Given the description of an element on the screen output the (x, y) to click on. 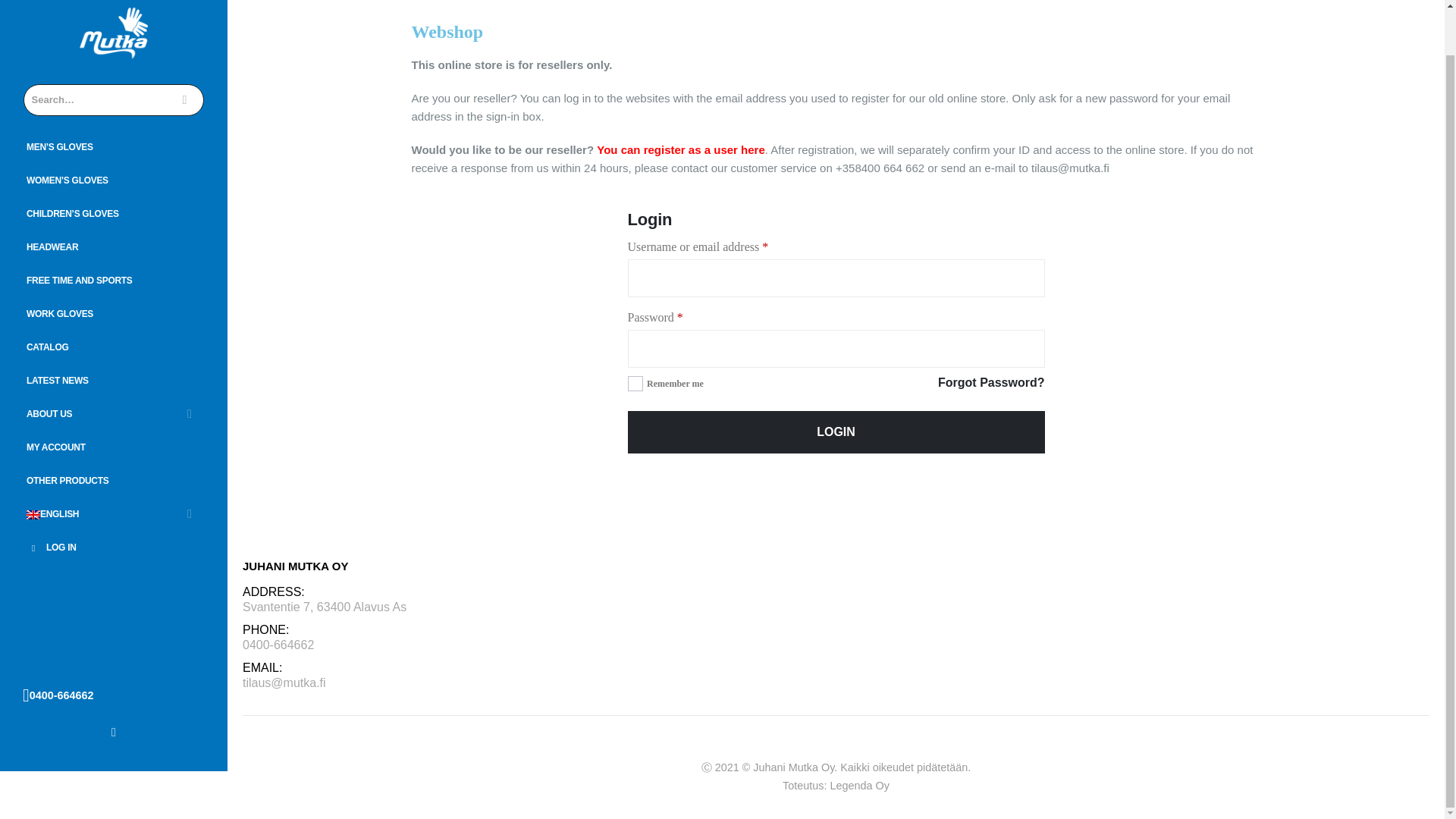
CATALOG (114, 347)
Search (185, 100)
MY ACCOUNT (114, 447)
ABOUT US (114, 414)
WORK GLOVES (114, 314)
Legenda Oy (858, 785)
ENGLISH (114, 513)
Forgot Password? (990, 383)
Instagram (113, 731)
HEADWEAR (114, 246)
